Given the description of an element on the screen output the (x, y) to click on. 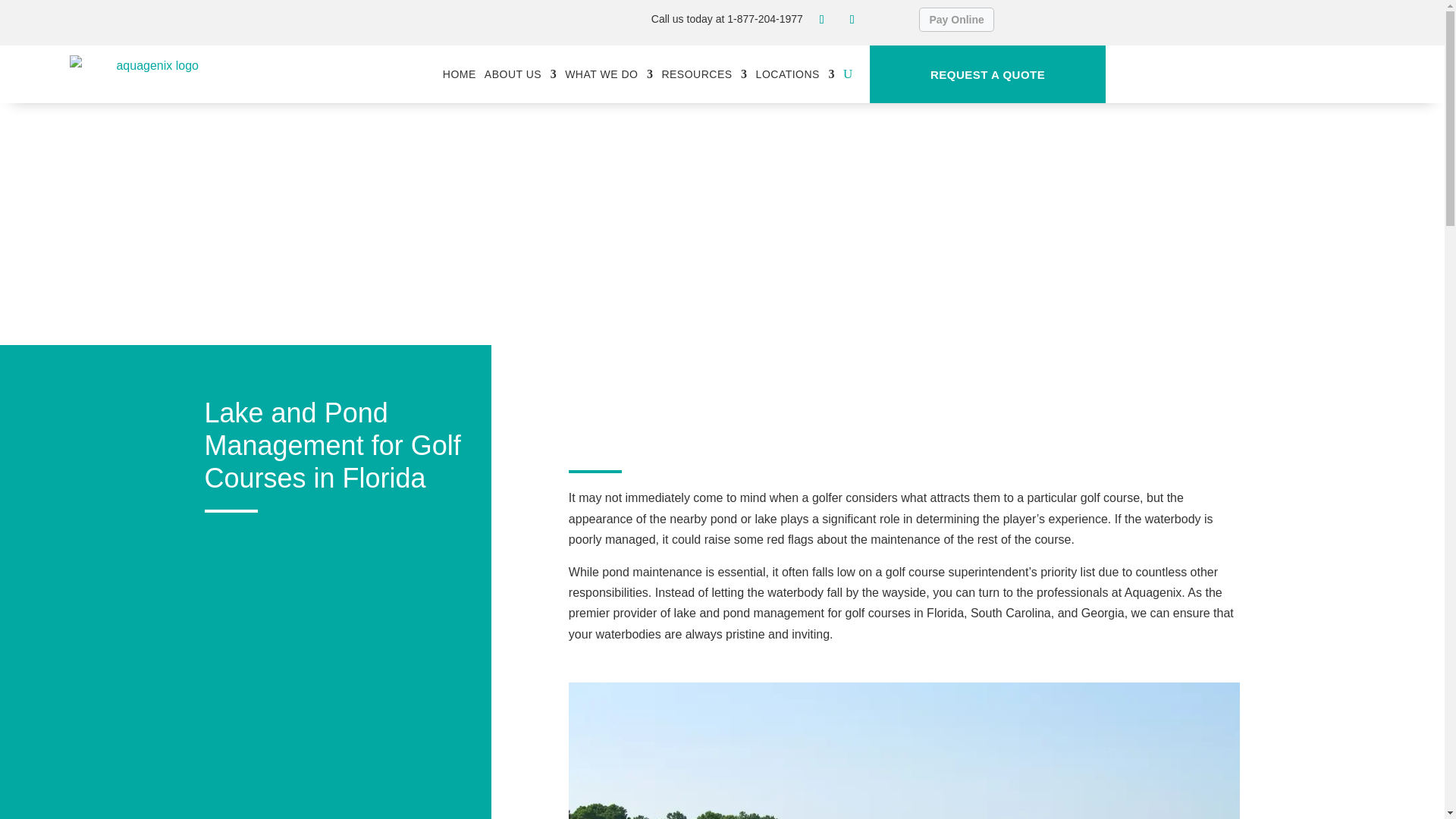
golf-lake (904, 750)
HOME (459, 74)
RESOURCES (703, 74)
ABOUT US (520, 74)
Follow on Facebook (821, 19)
LOCATIONS (794, 74)
Follow on LinkedIn (852, 19)
1-877-204-1977 (764, 19)
Pay Online (955, 19)
WHAT WE DO (608, 74)
